Given the description of an element on the screen output the (x, y) to click on. 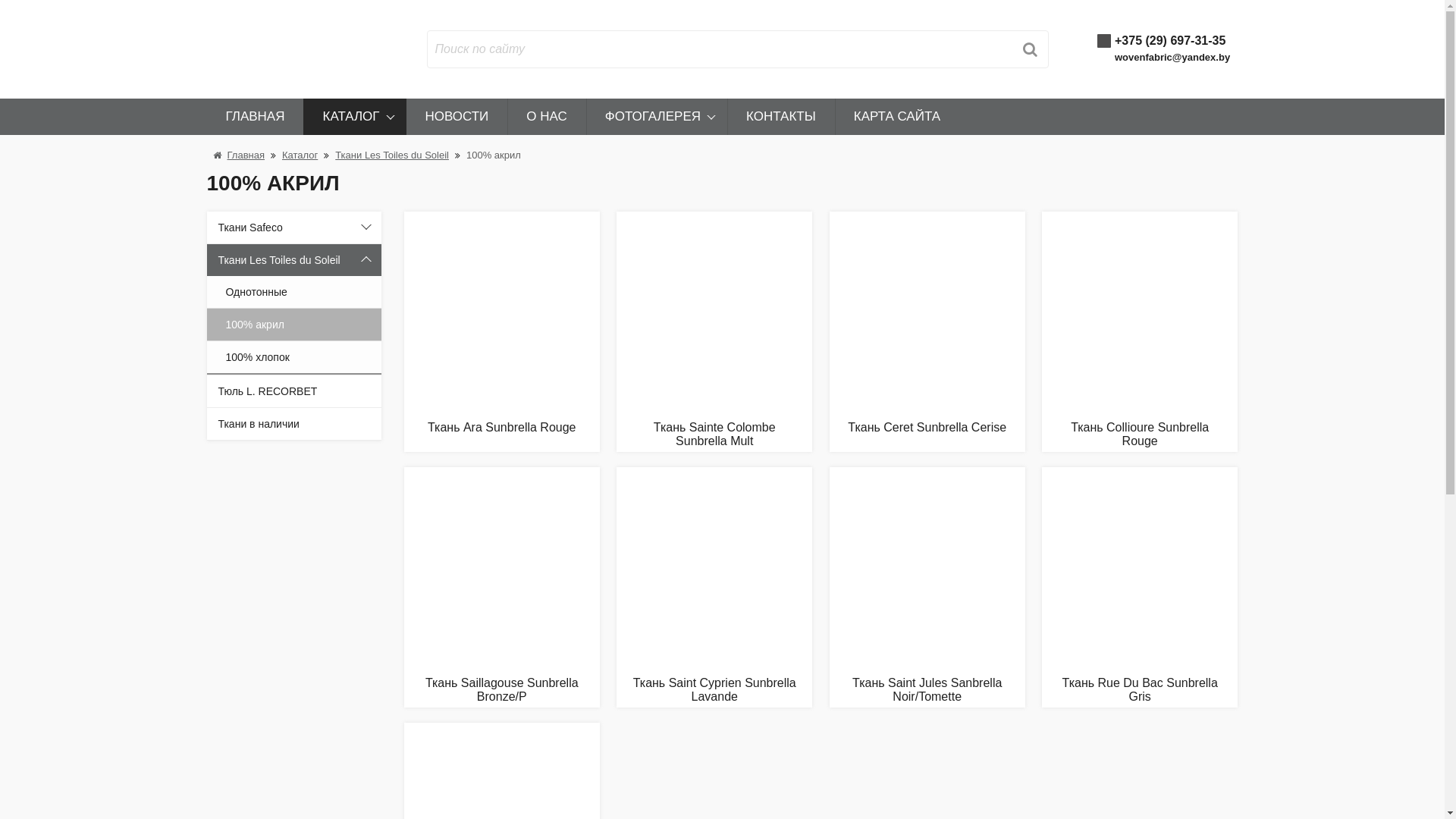
wovenfabric@yandex.by Element type: text (1172, 56)
+375 (29) 697-31-35 Element type: text (1169, 40)
